Given the description of an element on the screen output the (x, y) to click on. 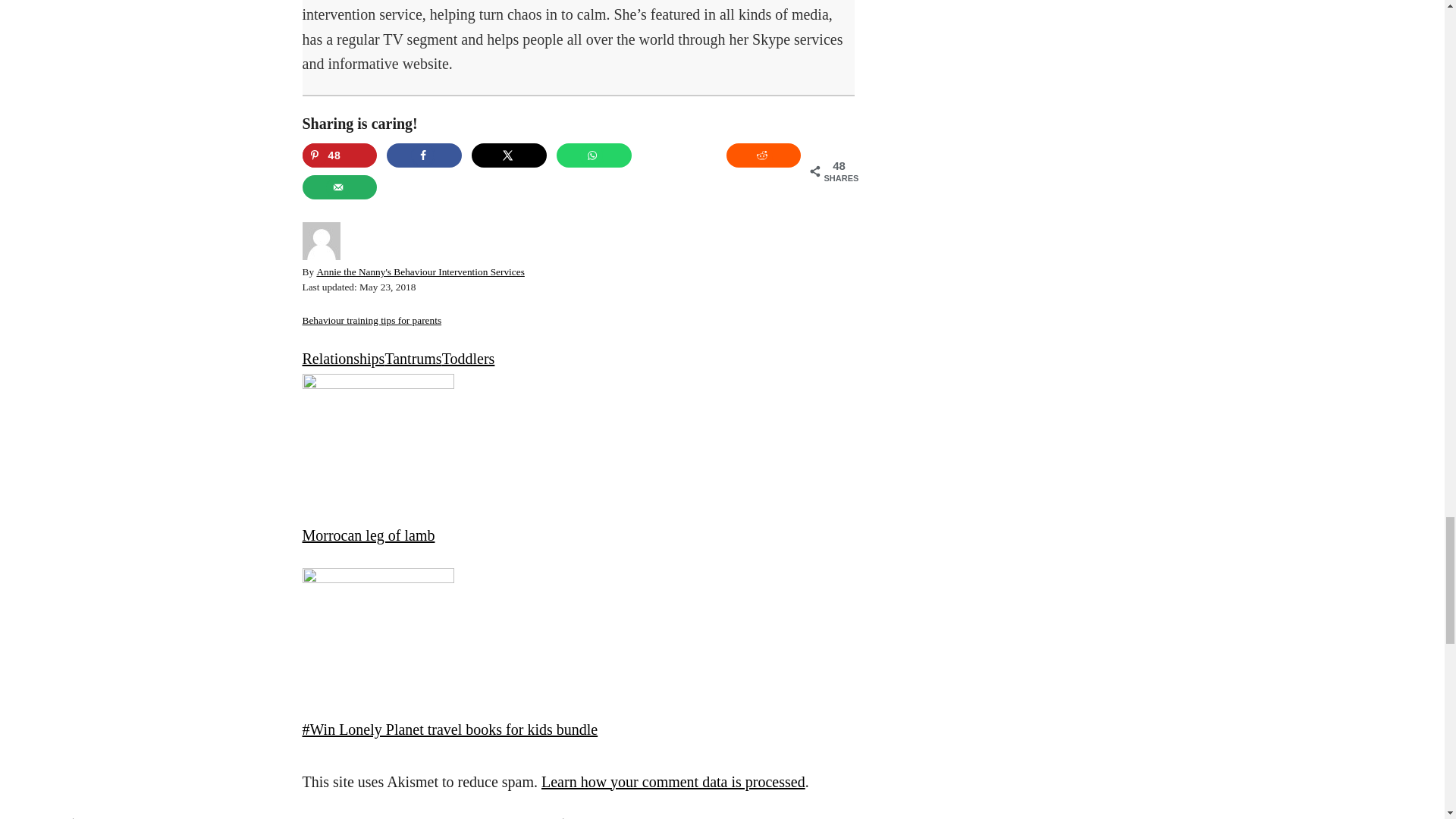
Share on Reddit (764, 155)
Share on WhatsApp (593, 155)
Save to Pinterest (339, 155)
Share on Buffer (679, 155)
Send over email (339, 187)
Share on X (509, 155)
Share on Facebook (424, 155)
